Given the description of an element on the screen output the (x, y) to click on. 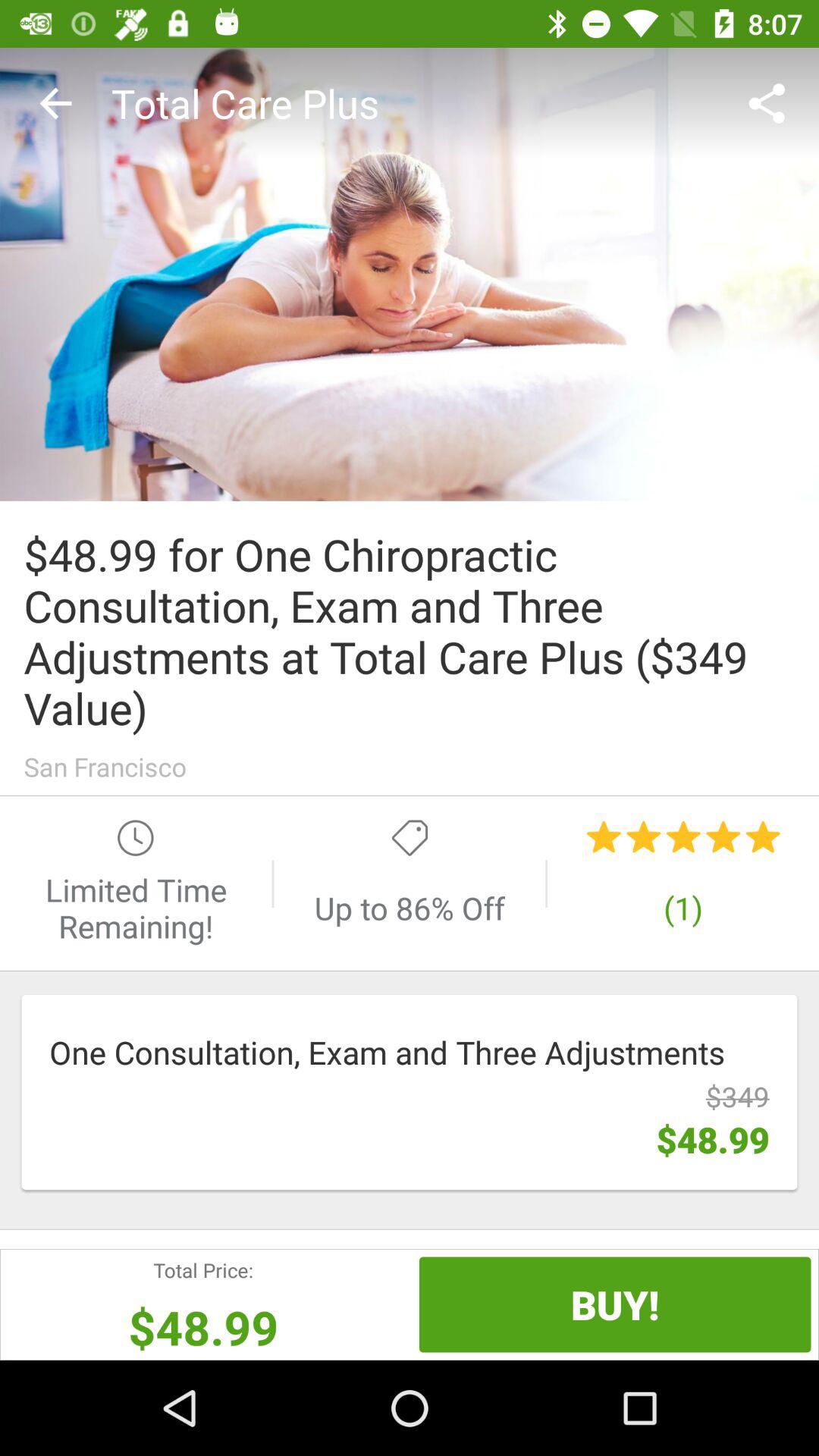
press san francisco item (409, 766)
